Given the description of an element on the screen output the (x, y) to click on. 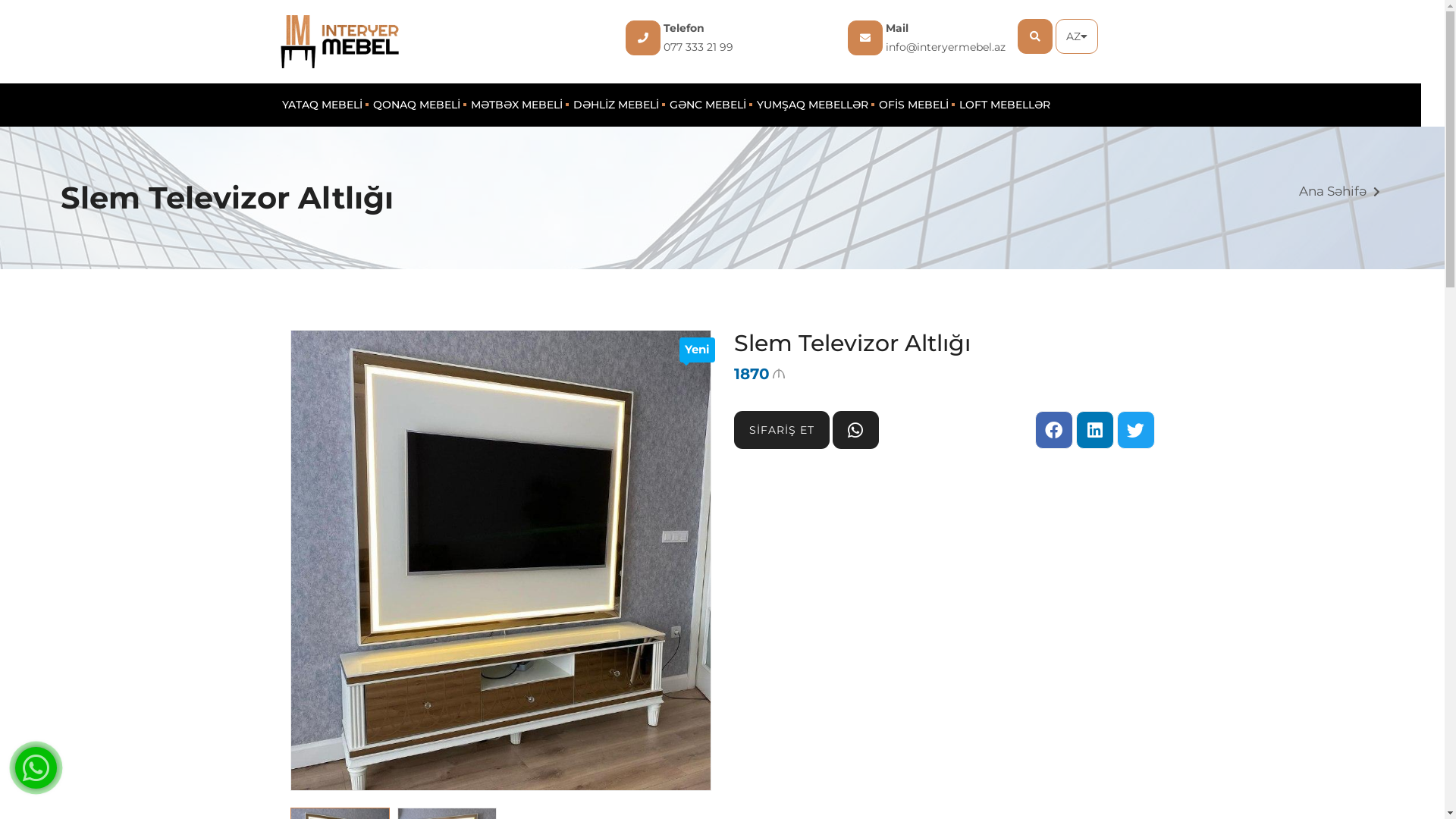
Twitter Element type: hover (1135, 429)
Mail info@interyermebel.az Element type: text (939, 37)
Facebook Element type: hover (1053, 429)
Telefon 077 333 21 99 Element type: text (717, 37)
YATAQ MEBELI Element type: text (322, 104)
QONAQ MEBELI Element type: text (416, 104)
Linkedin Element type: hover (1094, 429)
OFIS MEBELI Element type: text (913, 104)
AZ Element type: text (1076, 35)
